Given the description of an element on the screen output the (x, y) to click on. 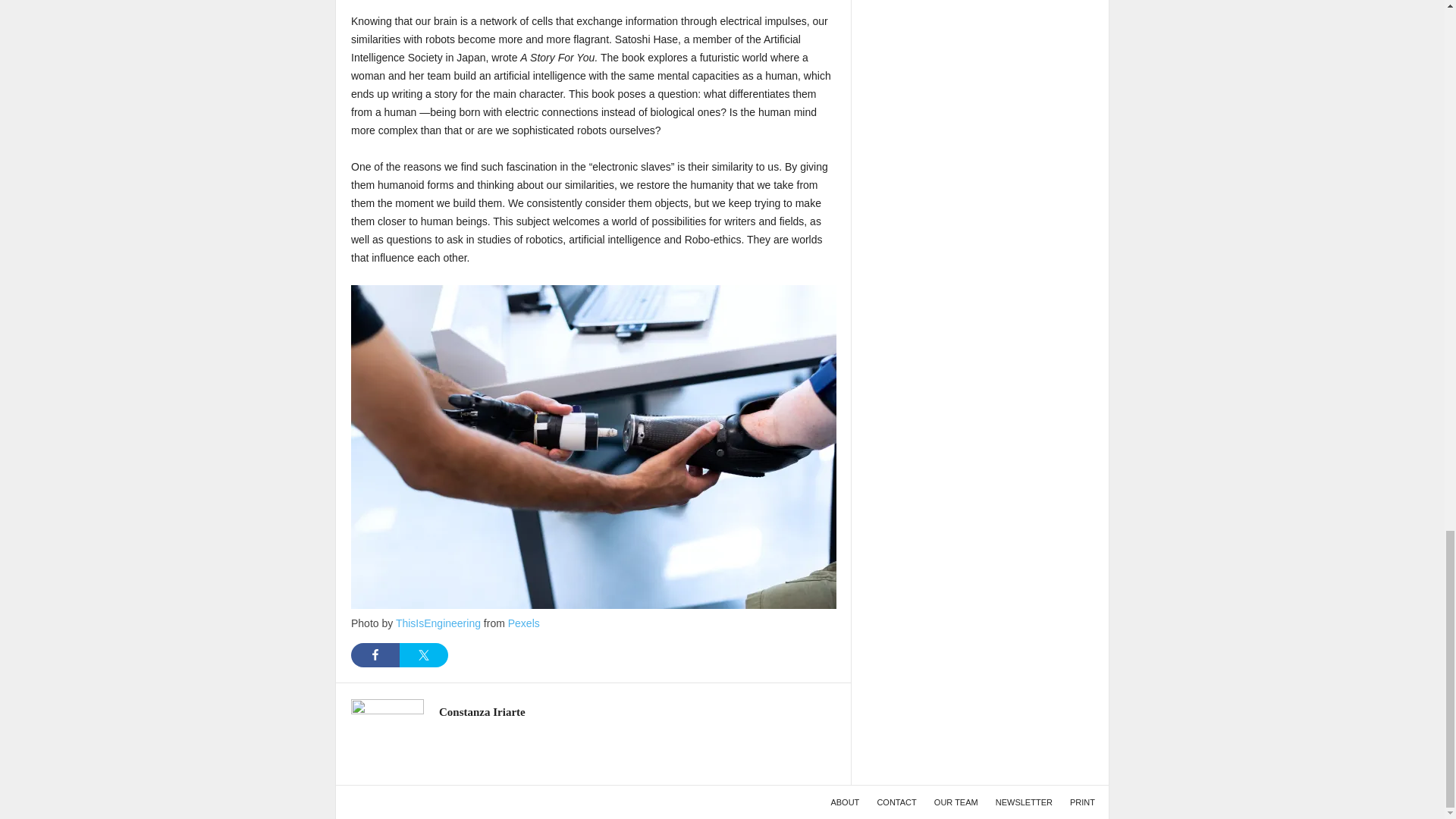
Share on Facebook (374, 654)
Share on Twitter (423, 654)
